Given the description of an element on the screen output the (x, y) to click on. 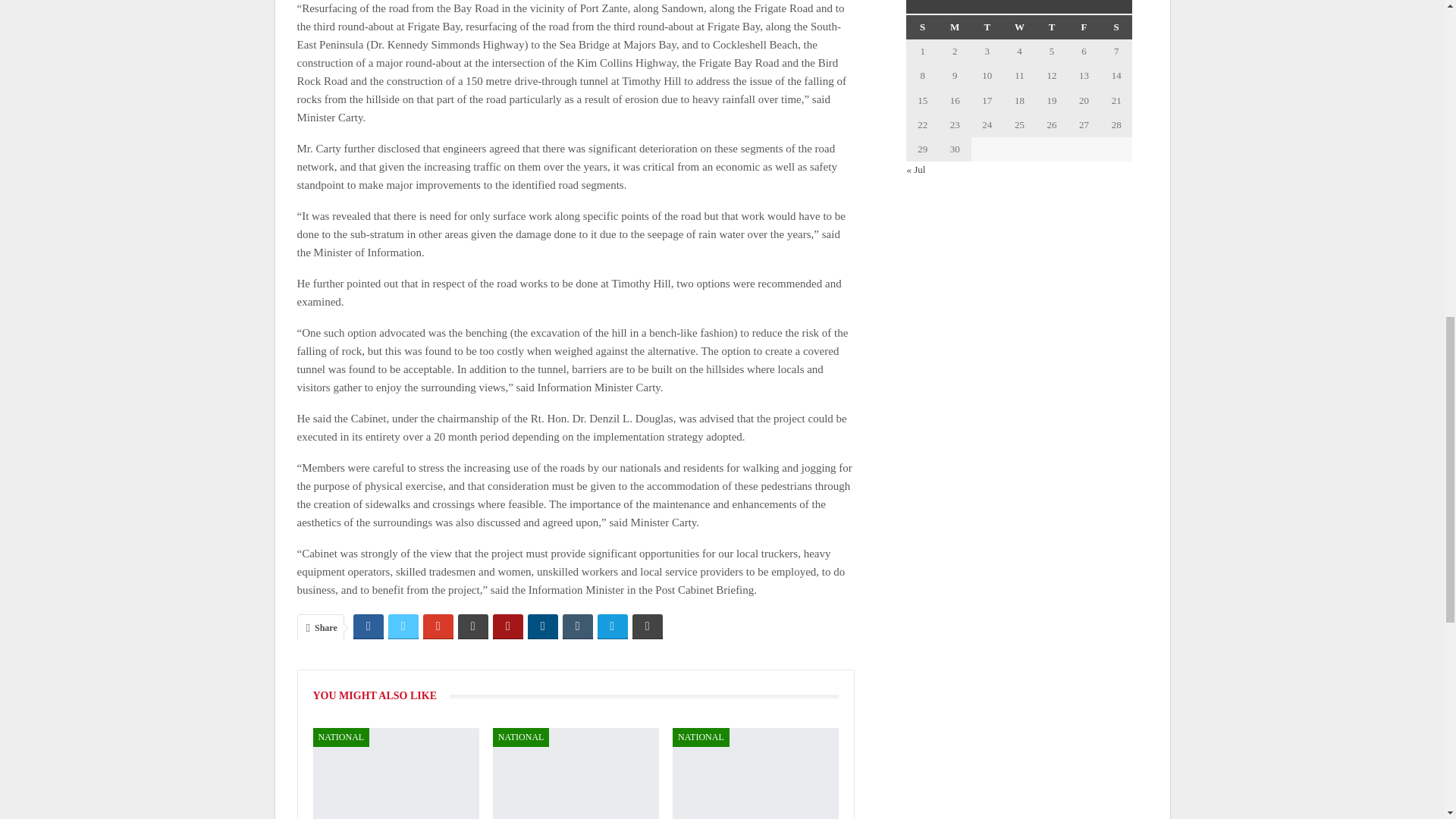
Sunday (922, 27)
Tuesday (987, 27)
Thursday (1051, 27)
Monday (955, 27)
Wednesday (1019, 27)
